Given the description of an element on the screen output the (x, y) to click on. 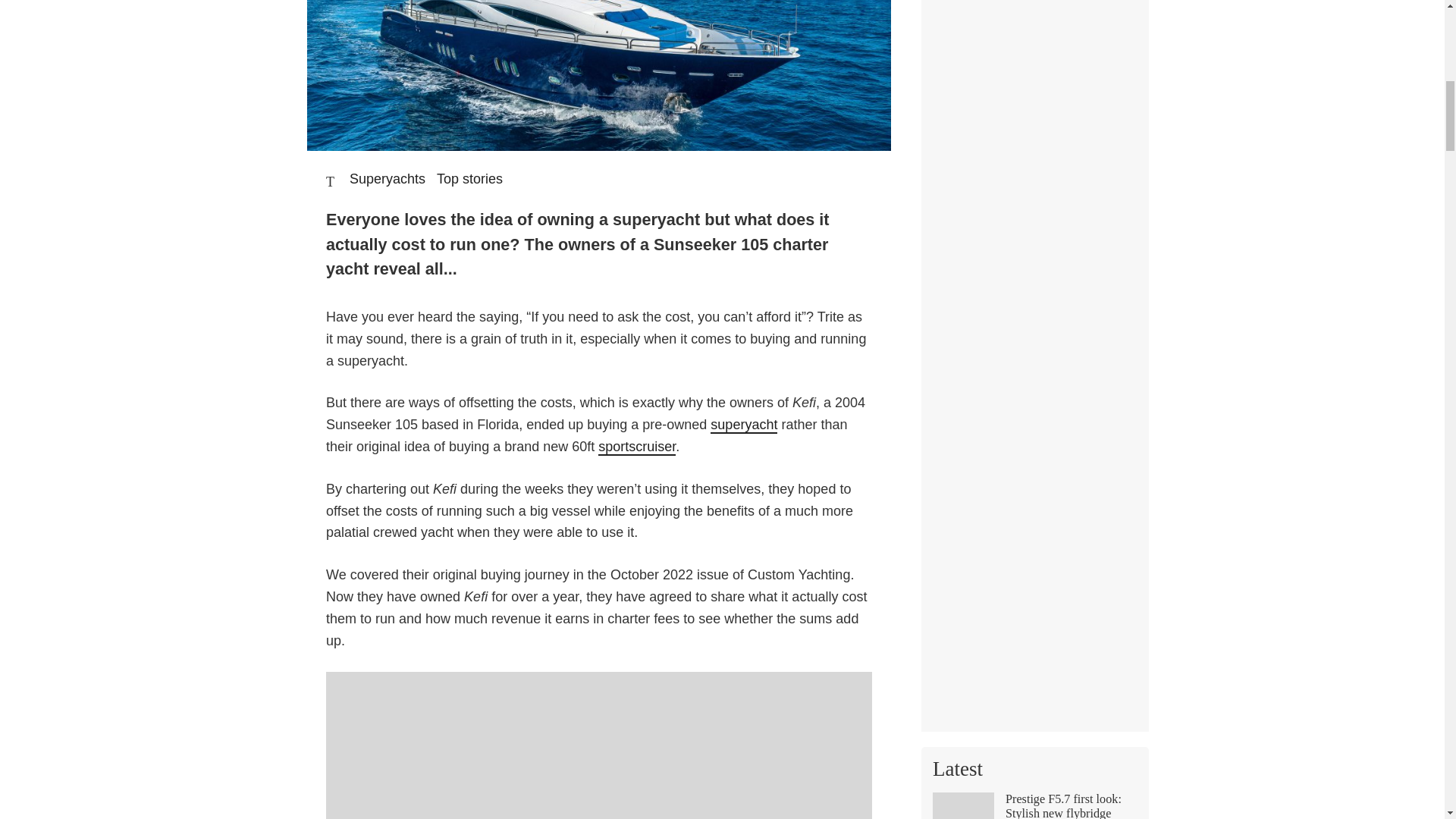
Prestige F5.7 first look: Stylish new flybridge (1035, 805)
